Given the description of an element on the screen output the (x, y) to click on. 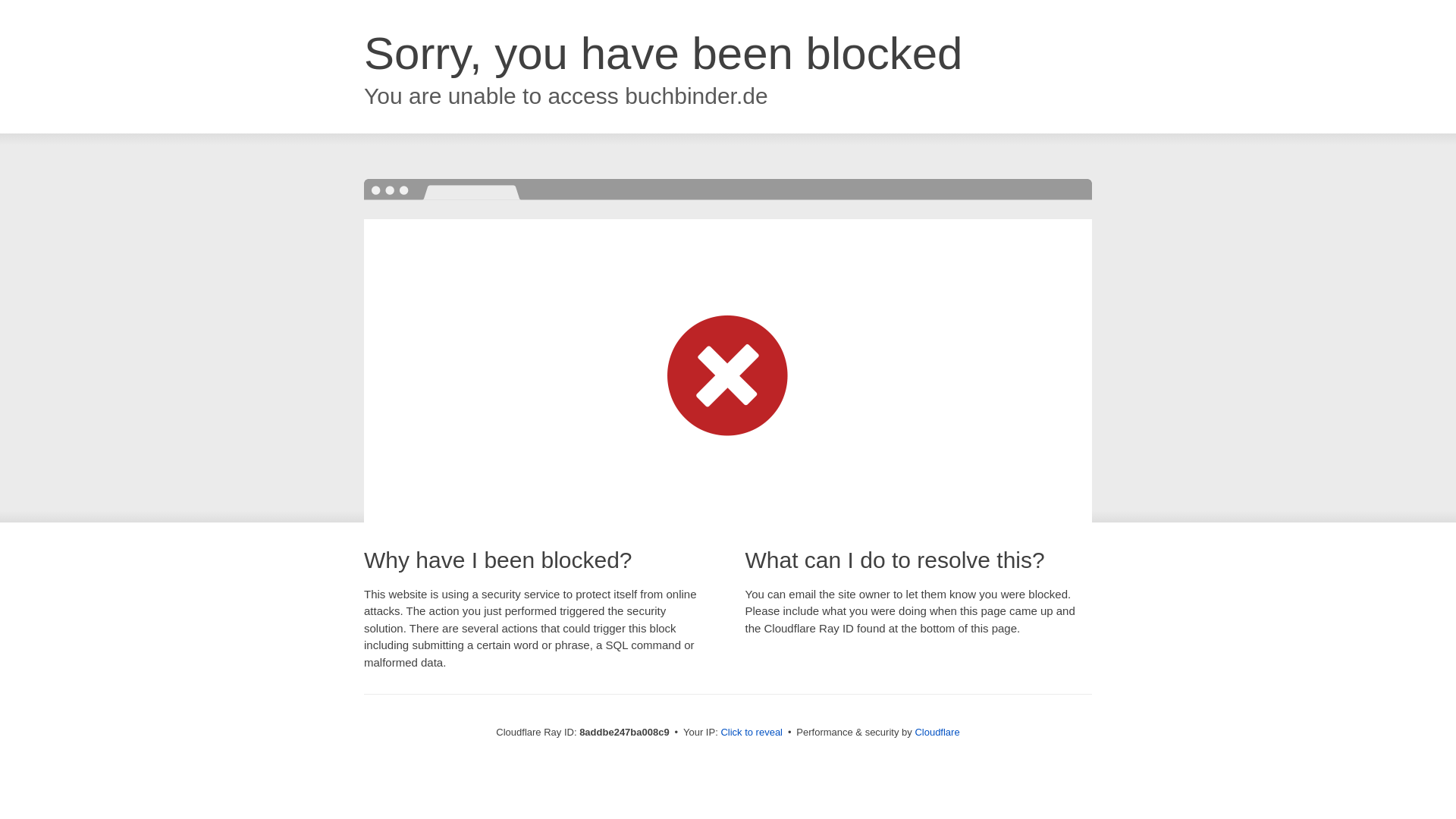
Click to reveal (751, 732)
Cloudflare (936, 731)
